Given the description of an element on the screen output the (x, y) to click on. 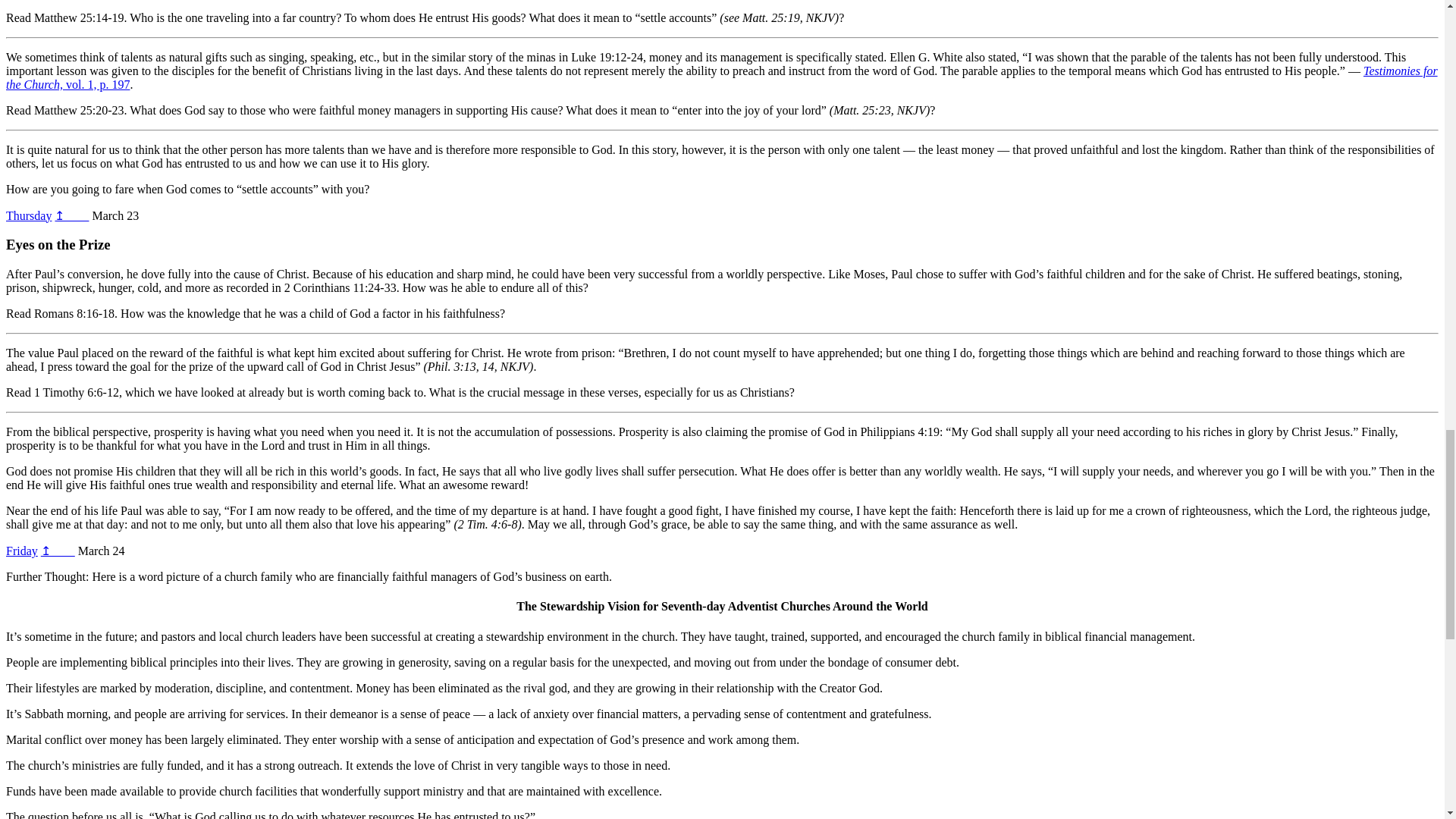
Align Upwards (27, 215)
Go to top of the page (71, 215)
Align Upwards (21, 550)
Friday (21, 550)
Go to top of the page (57, 550)
Thursday (27, 215)
